Given the description of an element on the screen output the (x, y) to click on. 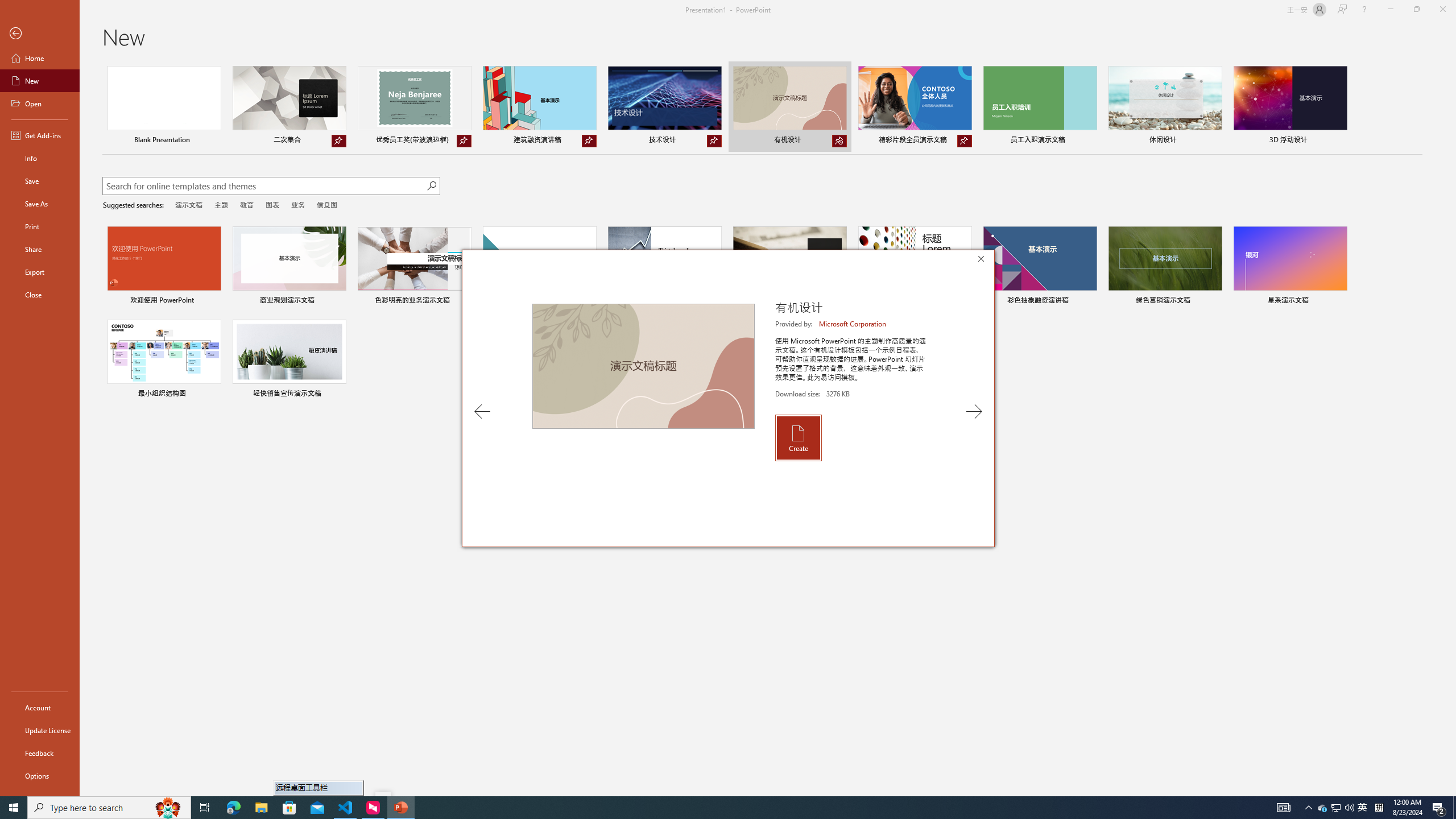
Back (40, 33)
Info (40, 157)
Unpin from list (964, 141)
Create (797, 437)
Pin to list (338, 394)
